Given the description of an element on the screen output the (x, y) to click on. 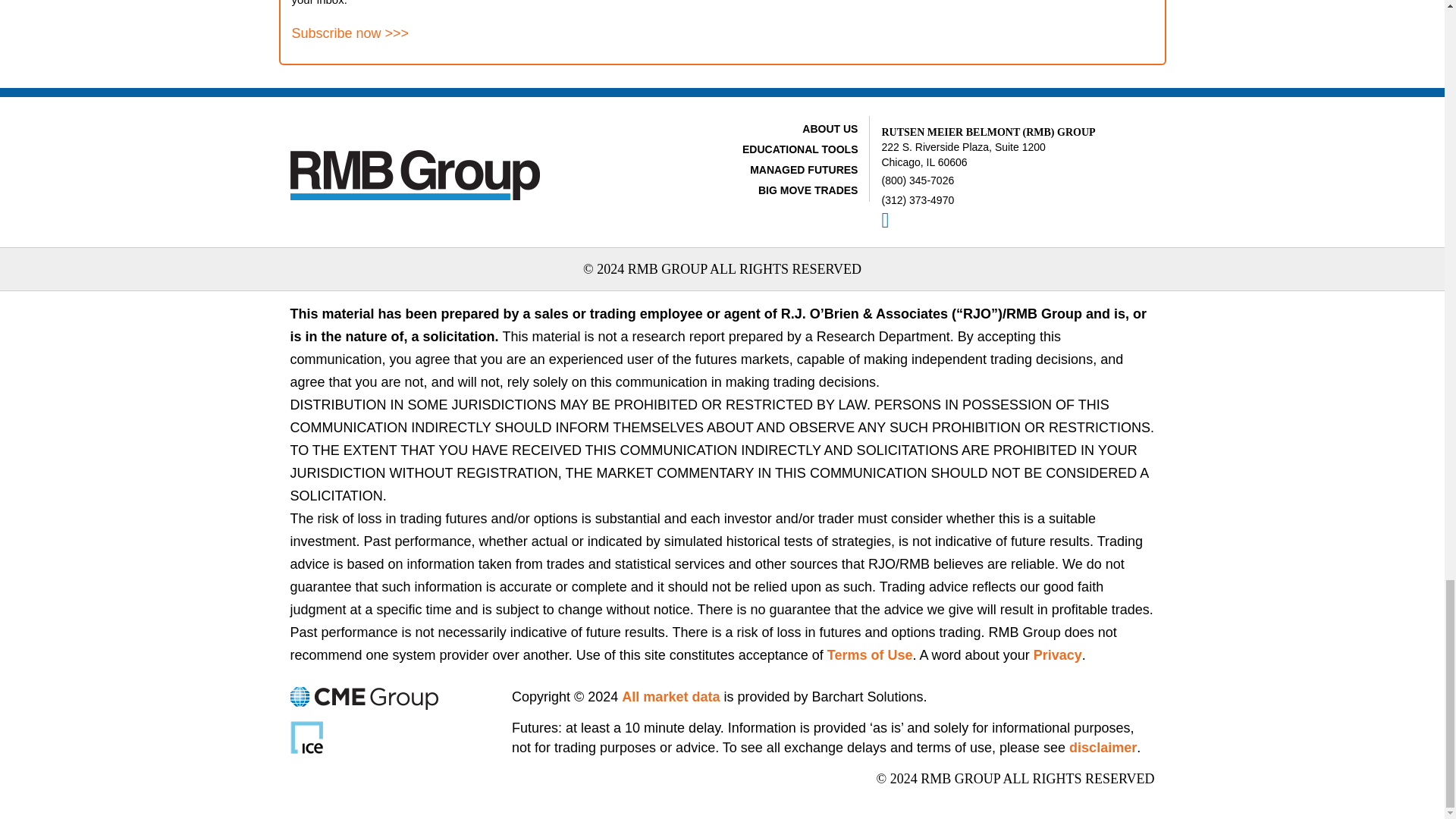
ABOUT US (829, 128)
Form 0 (943, 22)
Terms of Uses (869, 654)
